Given the description of an element on the screen output the (x, y) to click on. 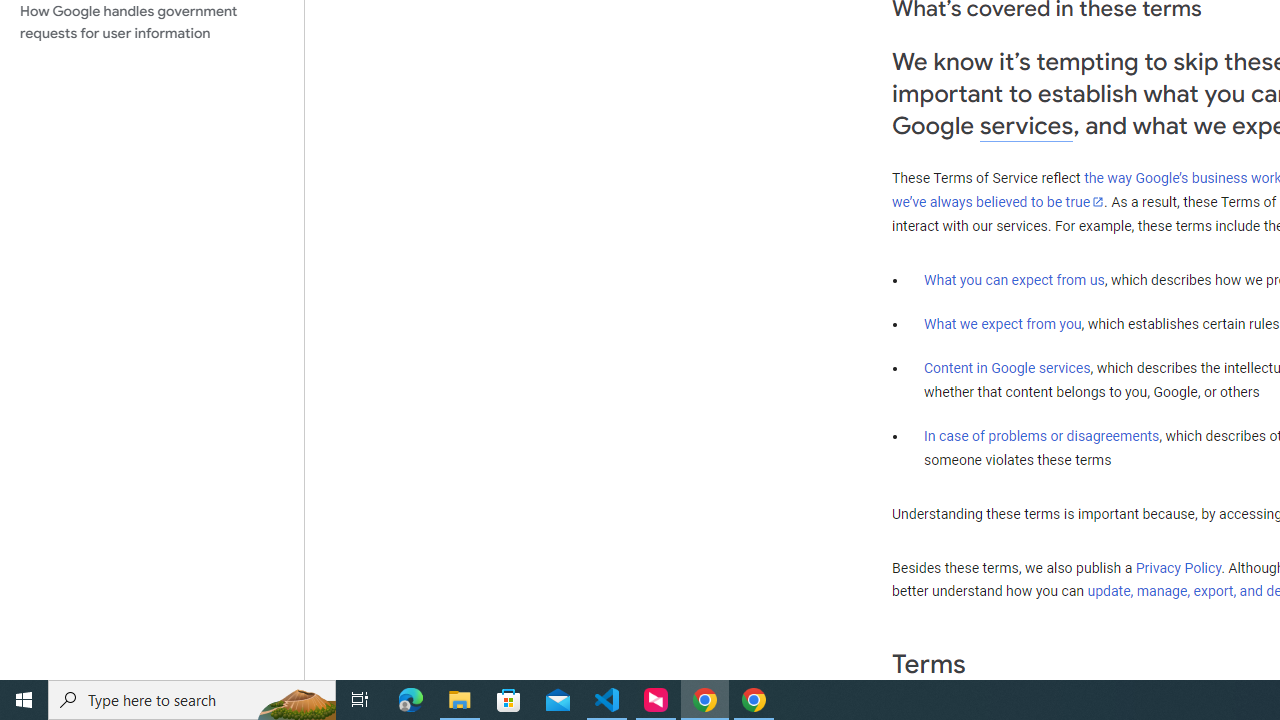
In case of problems or disagreements (1041, 435)
What you can expect from us (1014, 279)
services (1026, 125)
What we expect from you (1002, 323)
Content in Google services (1007, 368)
